Given the description of an element on the screen output the (x, y) to click on. 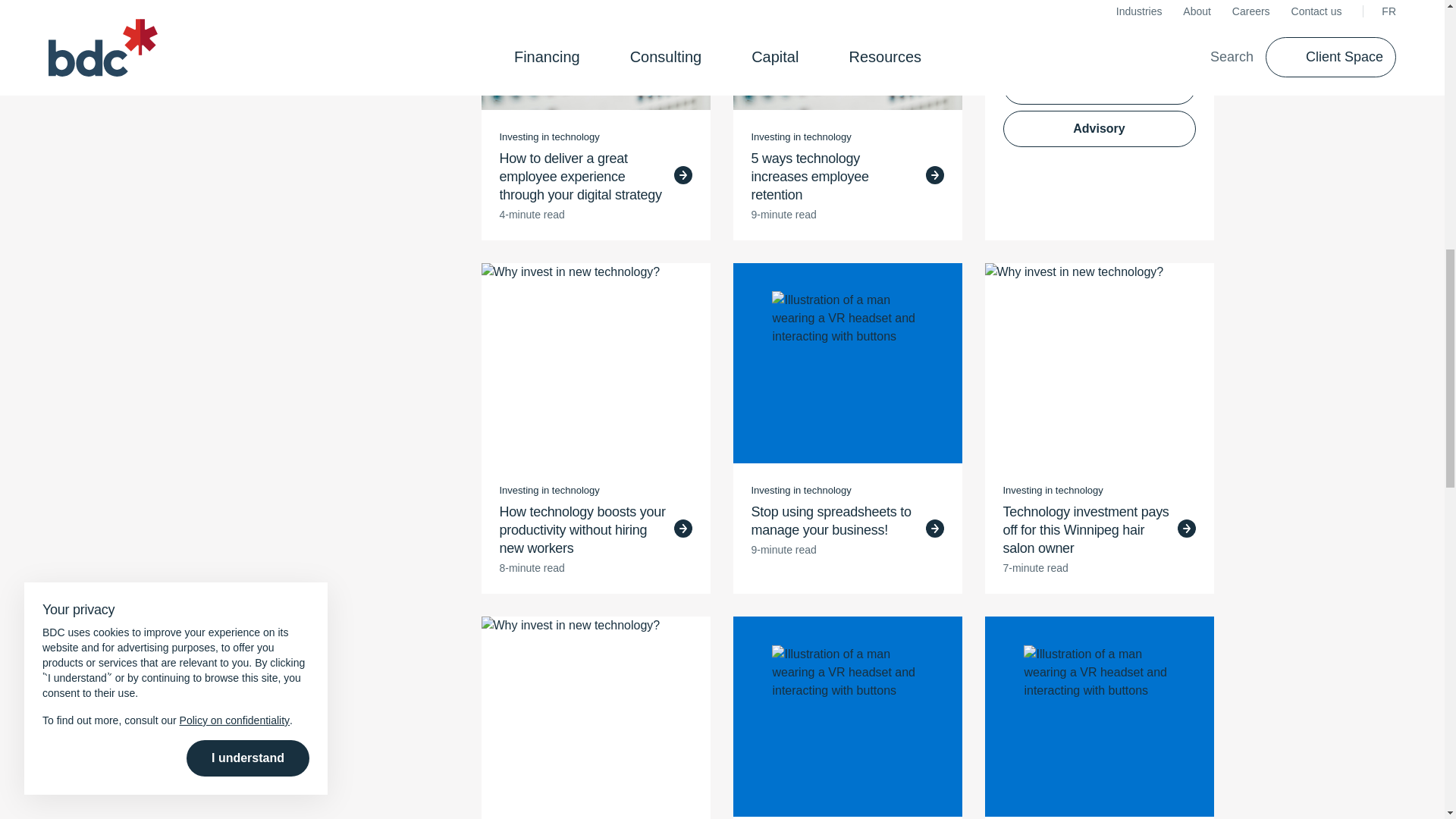
Why invest in new technology? (595, 362)
Why invest in new technology? (846, 54)
Why invest in new technology? (595, 716)
Why invest in new technology? (595, 54)
Why invest in new technology? (1098, 362)
